Given the description of an element on the screen output the (x, y) to click on. 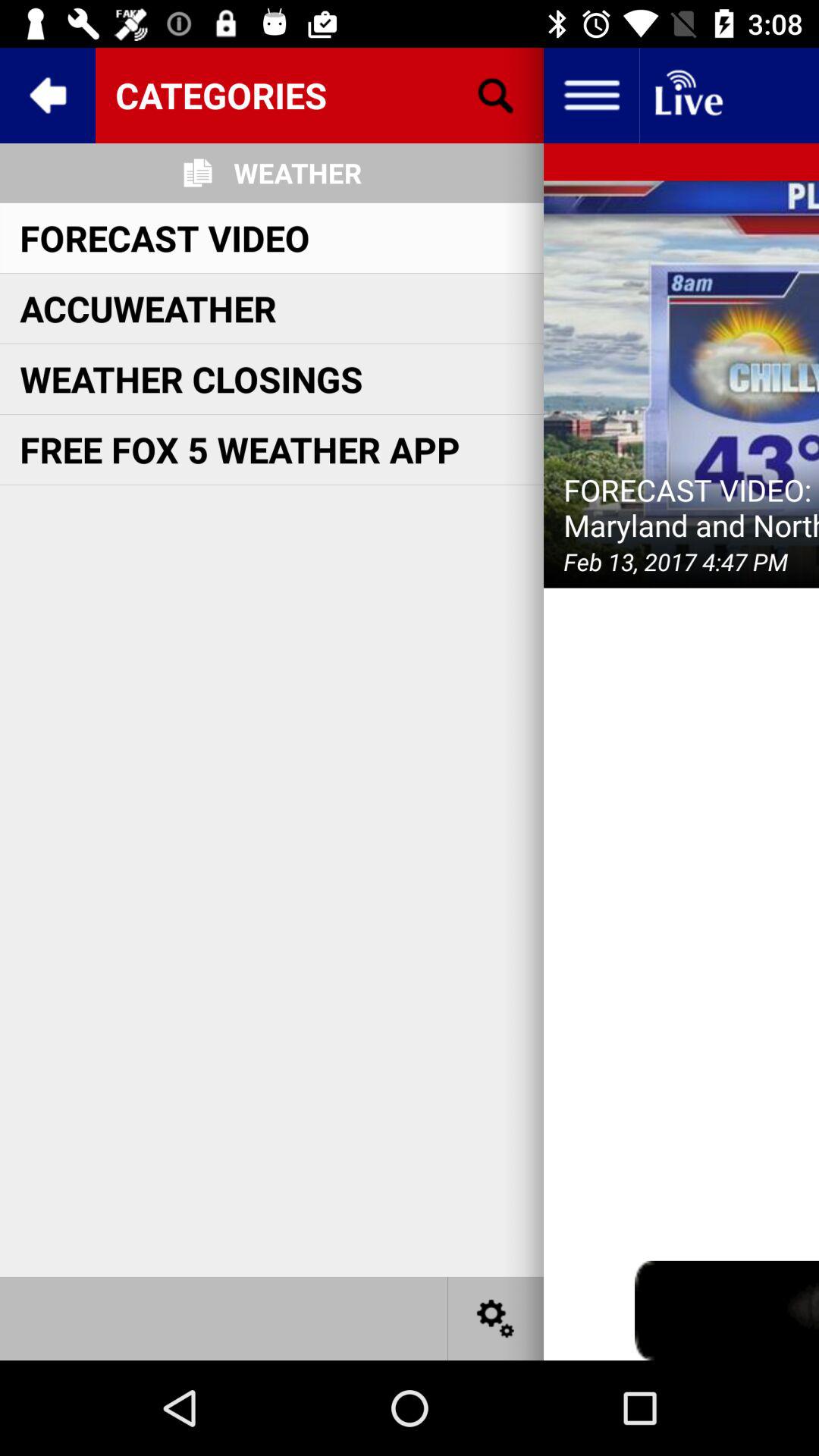
settings (495, 1318)
